Given the description of an element on the screen output the (x, y) to click on. 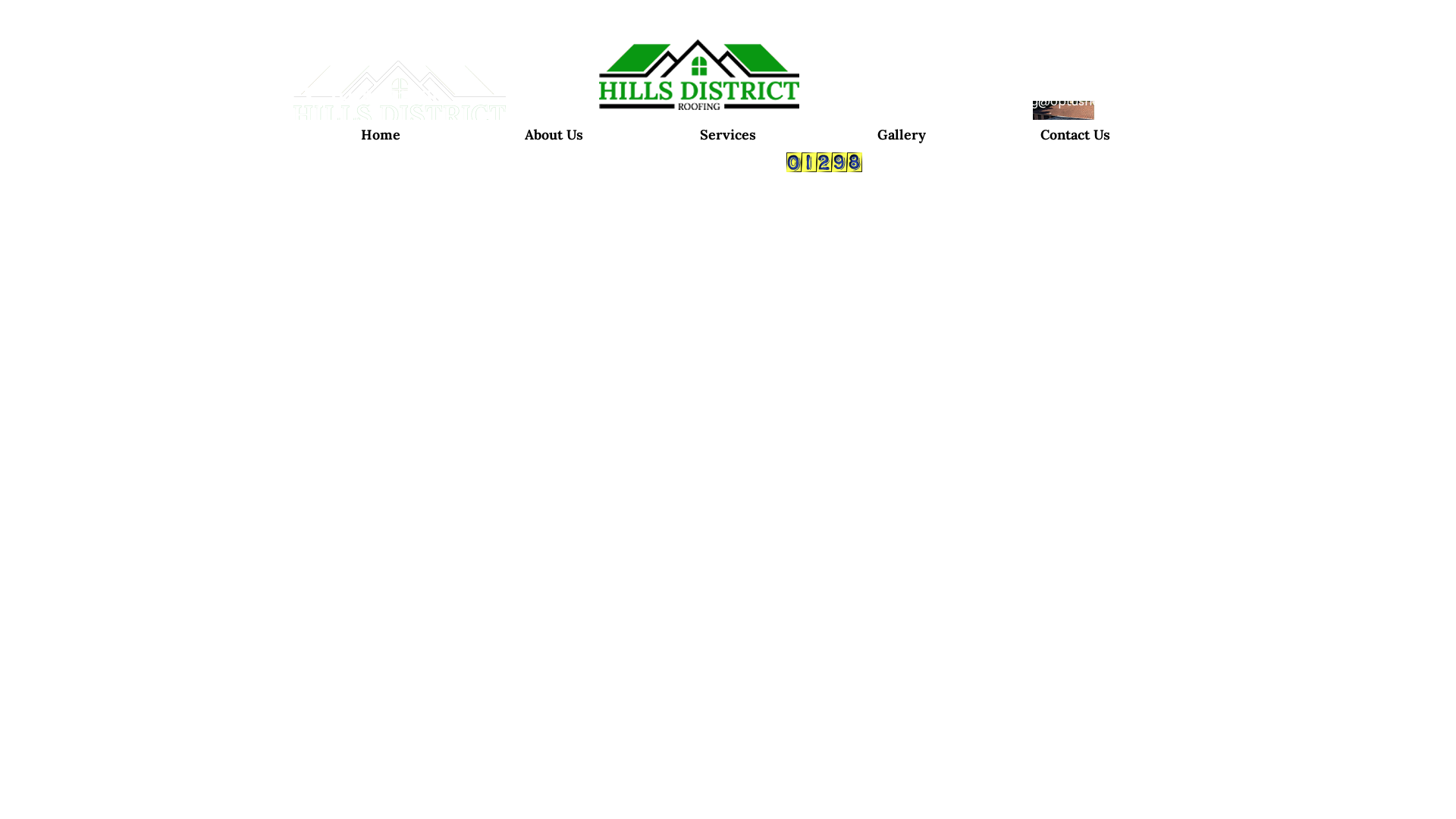
Contact Us Element type: text (1075, 134)
Home Element type: text (606, 107)
hillsroofing@optusnet.com.au Element type: text (1062, 101)
0418 281 650 Element type: text (844, 107)
0418 281 650 Element type: text (387, 96)
Free Counter Element type: hover (824, 162)
Home Element type: text (380, 134)
Contact Us Element type: text (622, 190)
Services Element type: text (727, 134)
Gallery Element type: text (610, 170)
Gallery Element type: text (901, 134)
hillsroofing@optusnet.com.au Element type: text (896, 133)
About Us Element type: text (553, 134)
Services Element type: text (614, 148)
About Us Element type: text (616, 128)
